Given the description of an element on the screen output the (x, y) to click on. 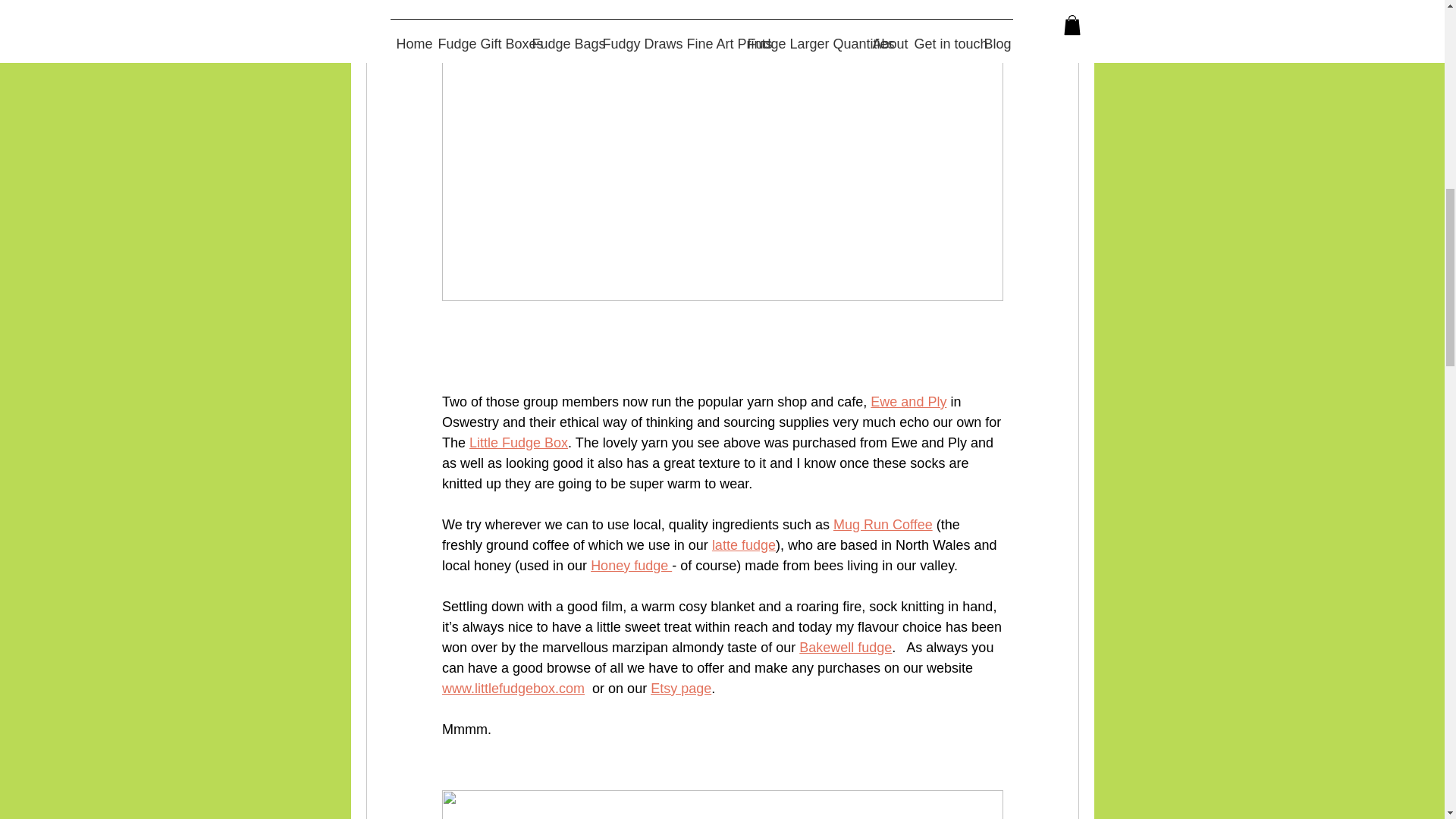
Ewe and Ply (908, 401)
Bakewell fudge (845, 647)
latte fudge (742, 544)
www.littlefudgebox.com (512, 688)
Mug Run Coffee (881, 524)
Little Fudge Box (517, 442)
Honey fudge  (631, 565)
Etsy page (680, 688)
